Given the description of an element on the screen output the (x, y) to click on. 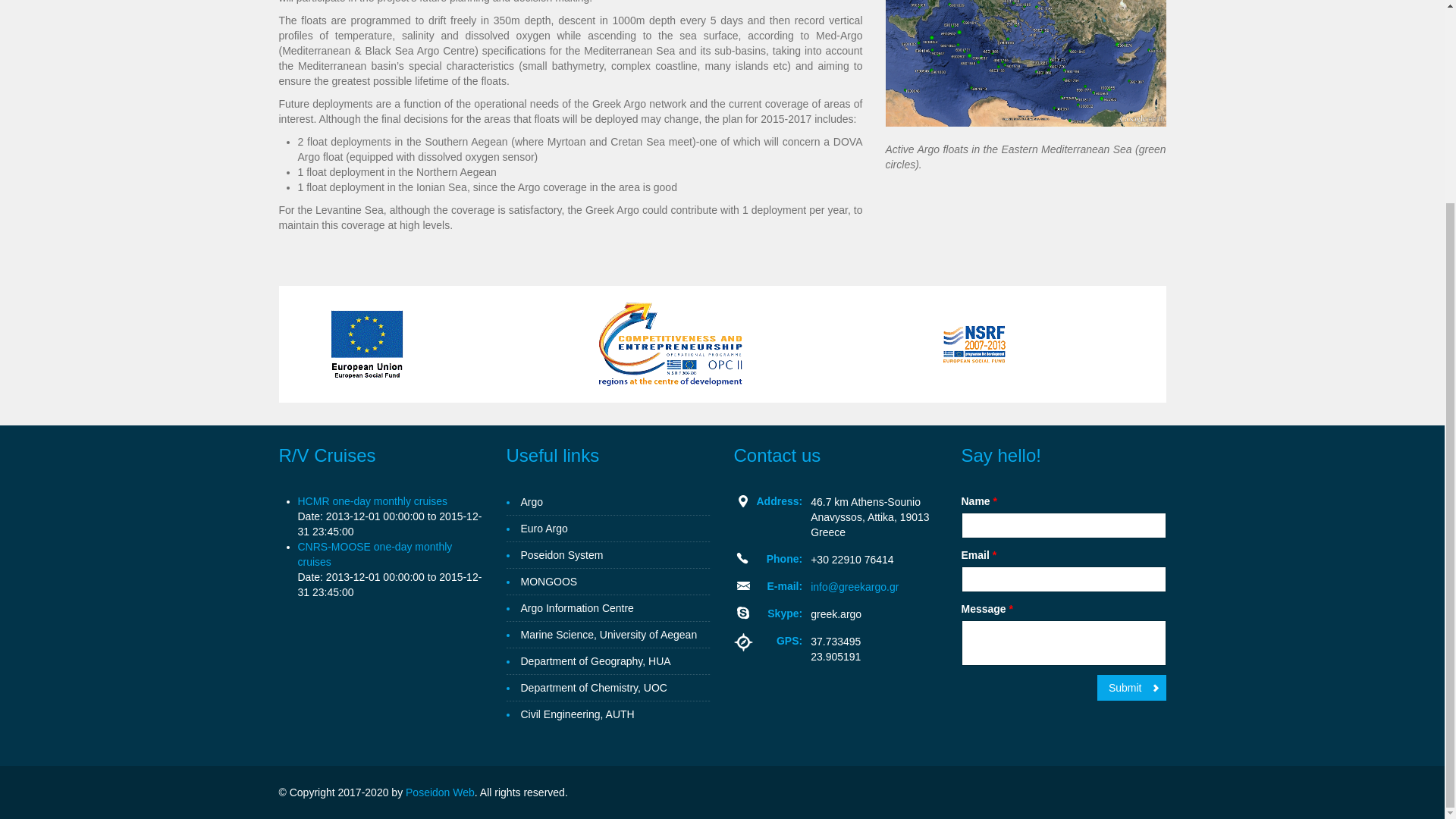
Civil Engineering, AUTH (576, 714)
Argo (531, 502)
MONGOOS (547, 581)
Argo Information Centre (576, 608)
Submit (1131, 687)
HCMR one-day monthly cruises (371, 500)
CNRS-MOOSE one-day monthly cruises (374, 554)
Department of Chemistry, UOC (592, 687)
Department of Geography, HUA (594, 661)
Euro Argo (543, 528)
Marine Science, University of Aegean (608, 634)
Poseidon System (560, 555)
